Given the description of an element on the screen output the (x, y) to click on. 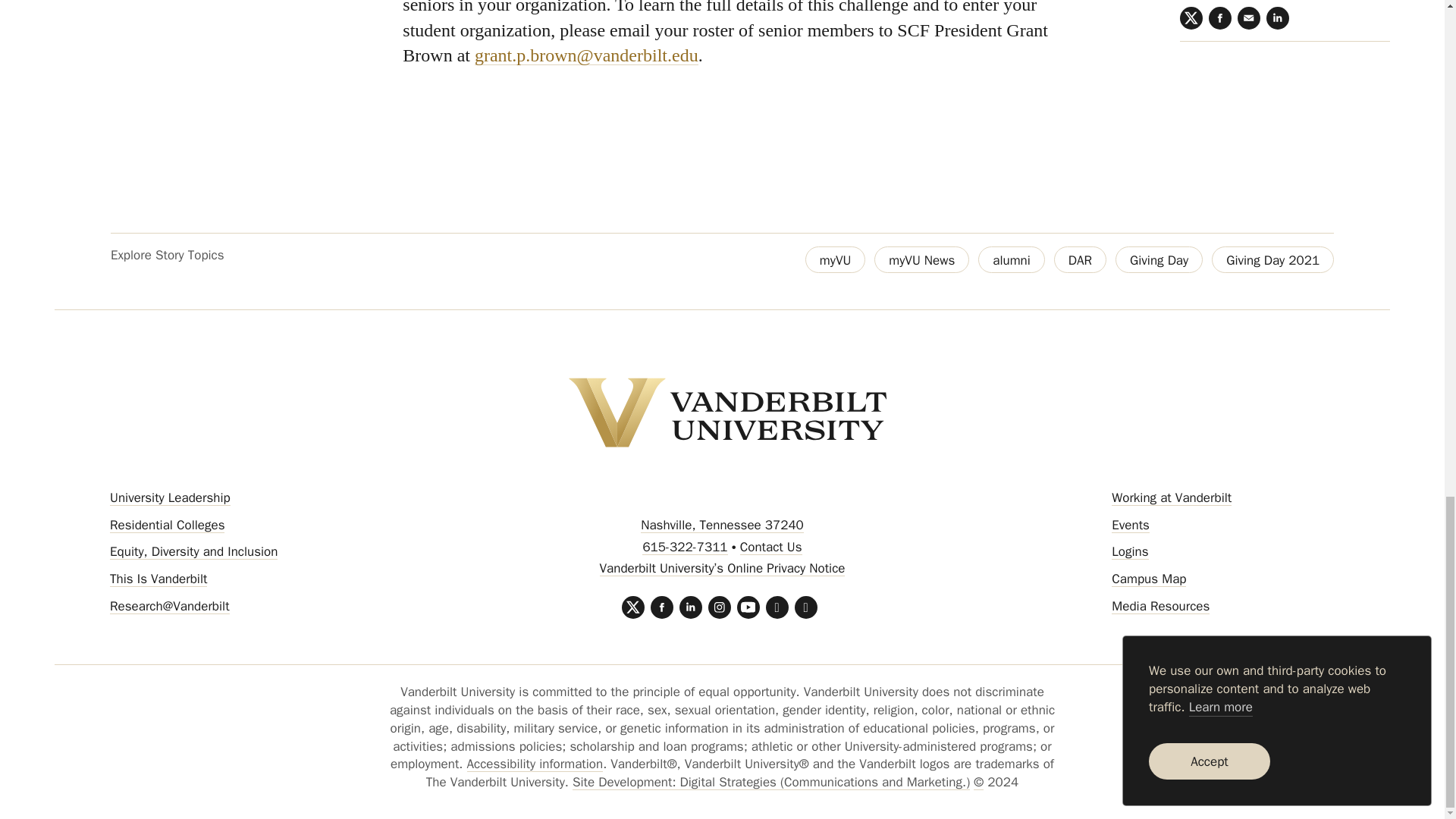
Giving Day (1158, 259)
myVU News (922, 259)
Giving Day 2021 (1272, 259)
alumni (1011, 259)
myVU (834, 259)
DAR (1080, 259)
Residential Colleges (167, 524)
This Is Vanderbilt (158, 578)
University Leadership (170, 497)
Equity, Diversity and Inclusion (194, 551)
